Given the description of an element on the screen output the (x, y) to click on. 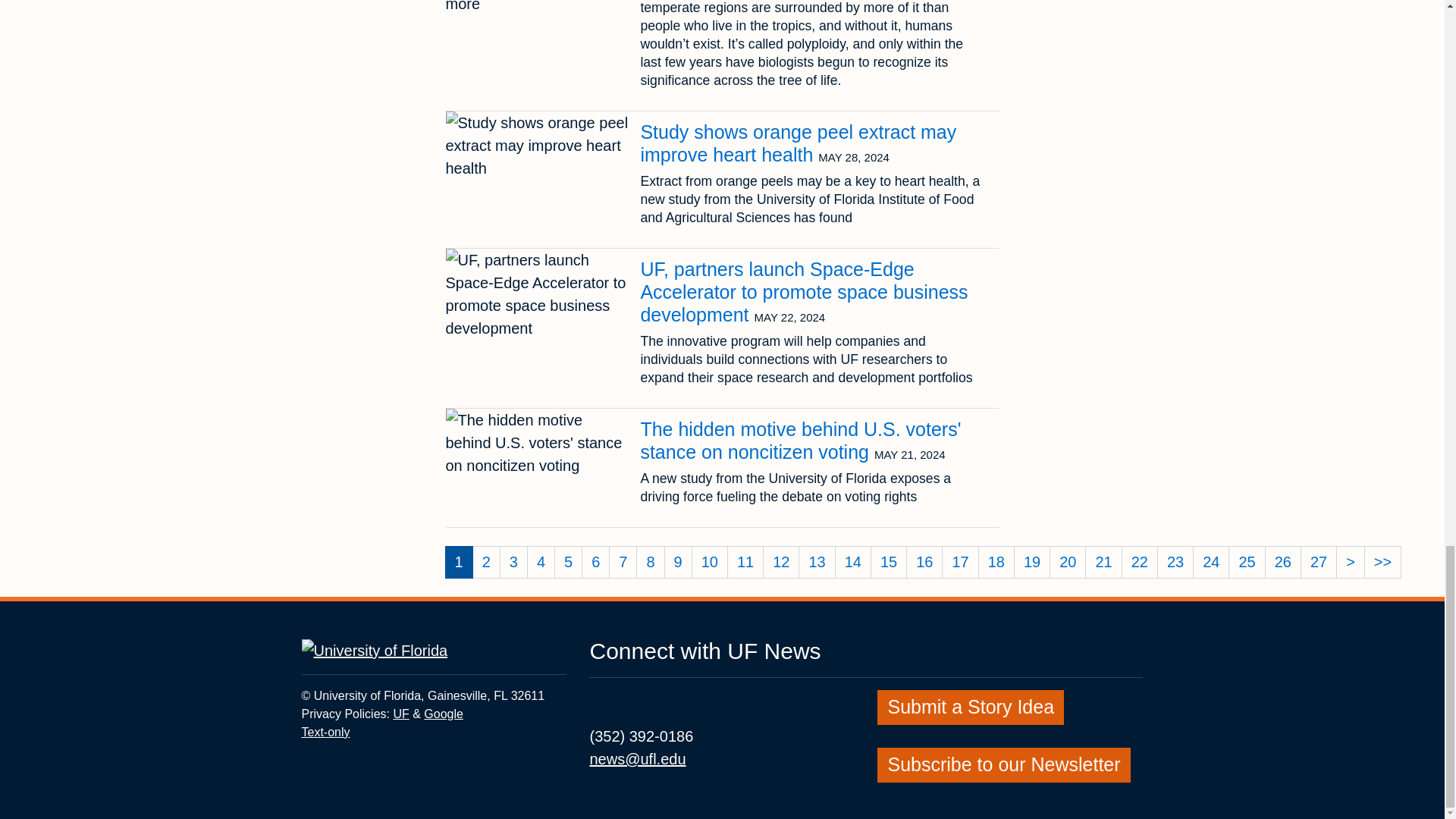
Study shows orange peel extract may improve heart health (798, 143)
